Given the description of an element on the screen output the (x, y) to click on. 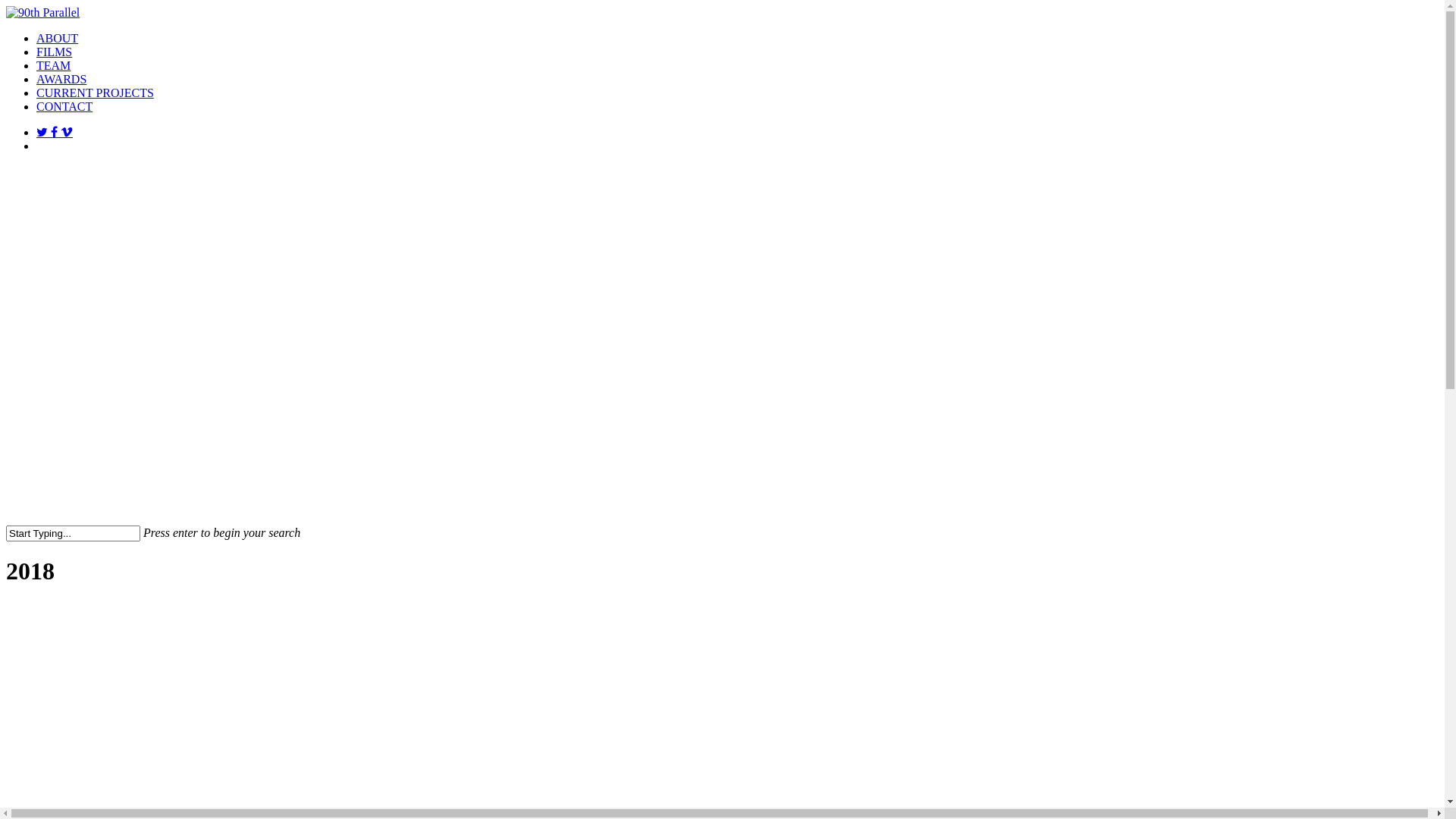
CONTACT Element type: text (64, 106)
AWARDS Element type: text (61, 78)
Close Menu Element type: text (1414, 29)
TEAM Element type: text (53, 65)
facebook Element type: text (55, 131)
vimeo Element type: text (66, 131)
CURRENT PROJECTS Element type: text (94, 92)
Skip to main content Element type: text (5, 5)
twitter Element type: text (43, 131)
FILMS Element type: text (54, 51)
ABOUT Element type: text (57, 37)
